Given the description of an element on the screen output the (x, y) to click on. 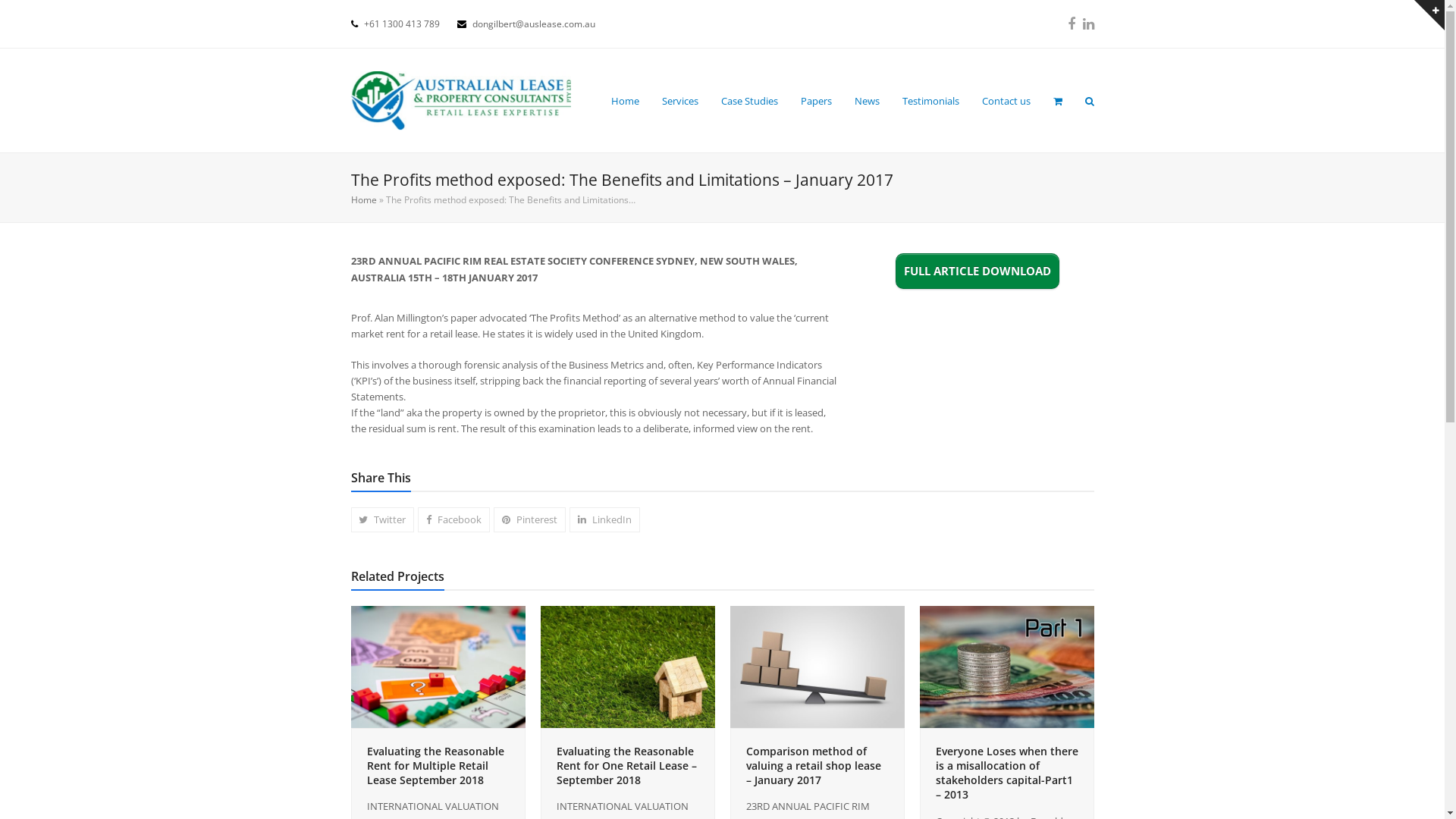
Home Element type: text (624, 100)
Facebook Element type: text (1071, 23)
Testimonials Element type: text (929, 100)
Contact us Element type: text (1005, 100)
Pinterest Element type: text (529, 519)
News Element type: text (867, 100)
FULL ARTICLE DOWNLOAD Element type: text (977, 270)
Papers Element type: text (815, 100)
LinkedIn Element type: text (1088, 23)
Facebook Element type: text (453, 519)
dongilbert@auslease.com.au Element type: text (532, 23)
Twitter Element type: text (382, 519)
Home Element type: text (363, 199)
Case Studies Element type: text (749, 100)
LinkedIn Element type: text (604, 519)
61 1300 413 789 Element type: text (403, 23)
Services Element type: text (679, 100)
